Given the description of an element on the screen output the (x, y) to click on. 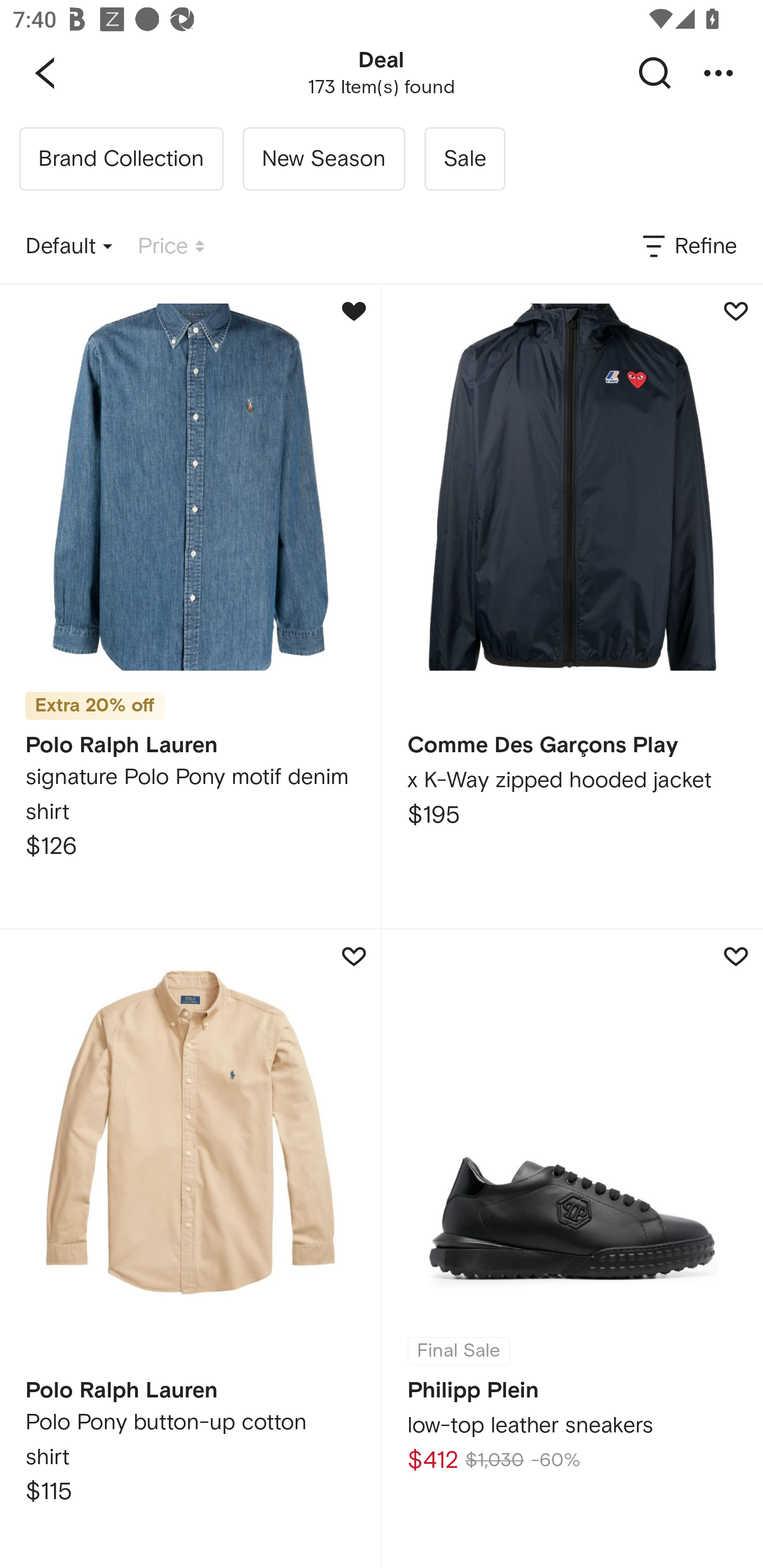
Brand Collection (121, 158)
New Season (323, 158)
Sale (464, 158)
Default (68, 246)
Price (171, 246)
Refine (688, 246)
Extra 20% off (94, 698)
